Given the description of an element on the screen output the (x, y) to click on. 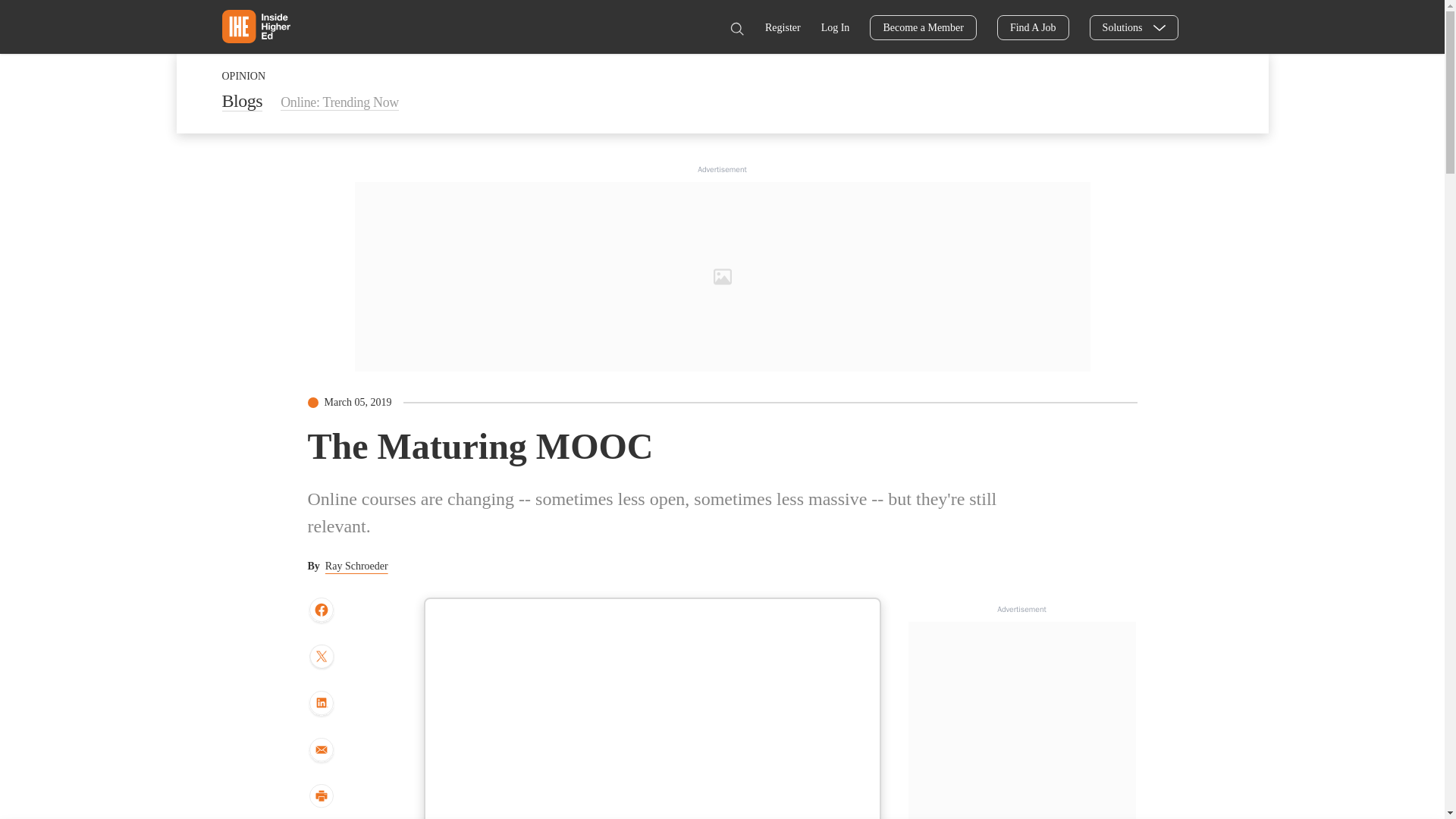
share to facebook (320, 610)
Home (255, 26)
Find A Job (1032, 27)
share by email (320, 750)
share to twitter (320, 657)
share to Linkedin (320, 704)
Become a Member (922, 27)
Search (736, 28)
